Given the description of an element on the screen output the (x, y) to click on. 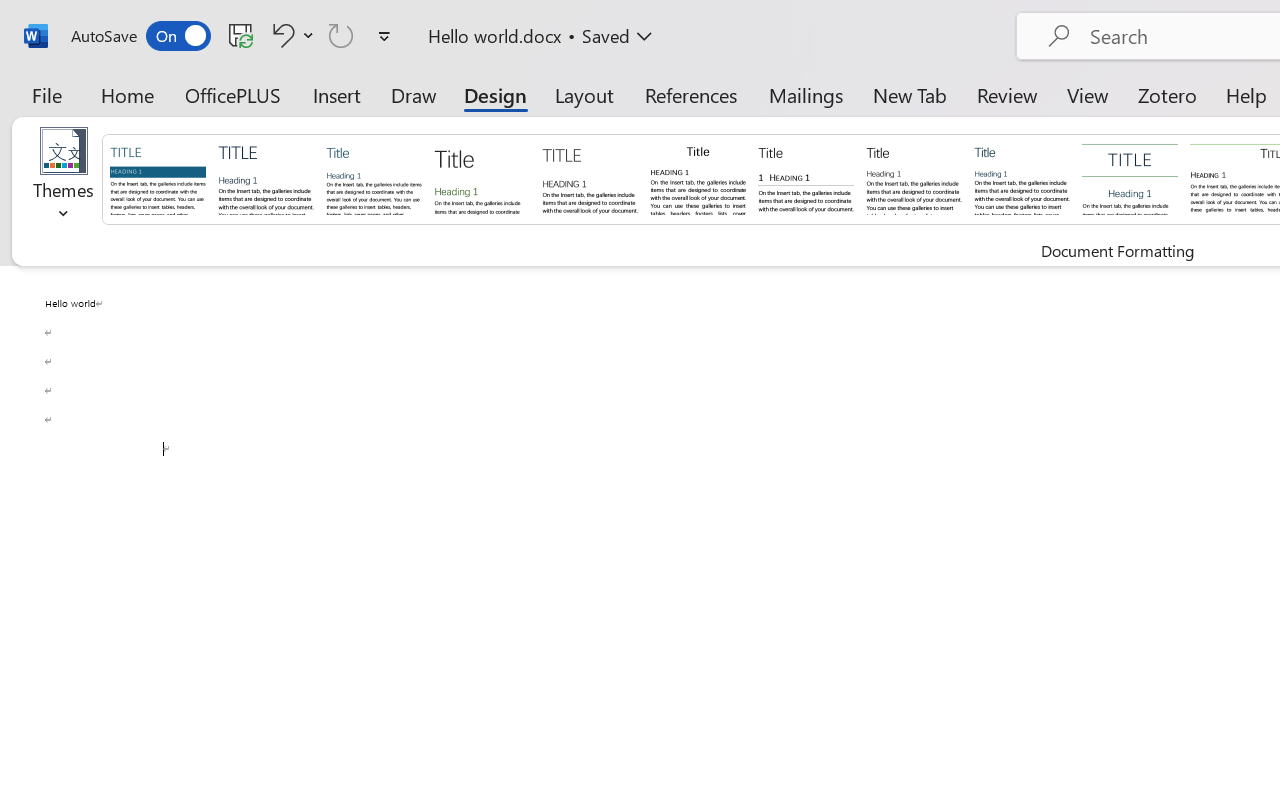
Review (1007, 94)
Quick Access Toolbar (233, 36)
Document (157, 178)
Home (127, 94)
Black & White (Numbered) (806, 178)
Basic (Elegant) (266, 178)
Black & White (Word 2013) (913, 178)
Basic (Stylish) (481, 178)
Insert (337, 94)
View (1087, 94)
Mailings (806, 94)
Casual (1021, 178)
